Given the description of an element on the screen output the (x, y) to click on. 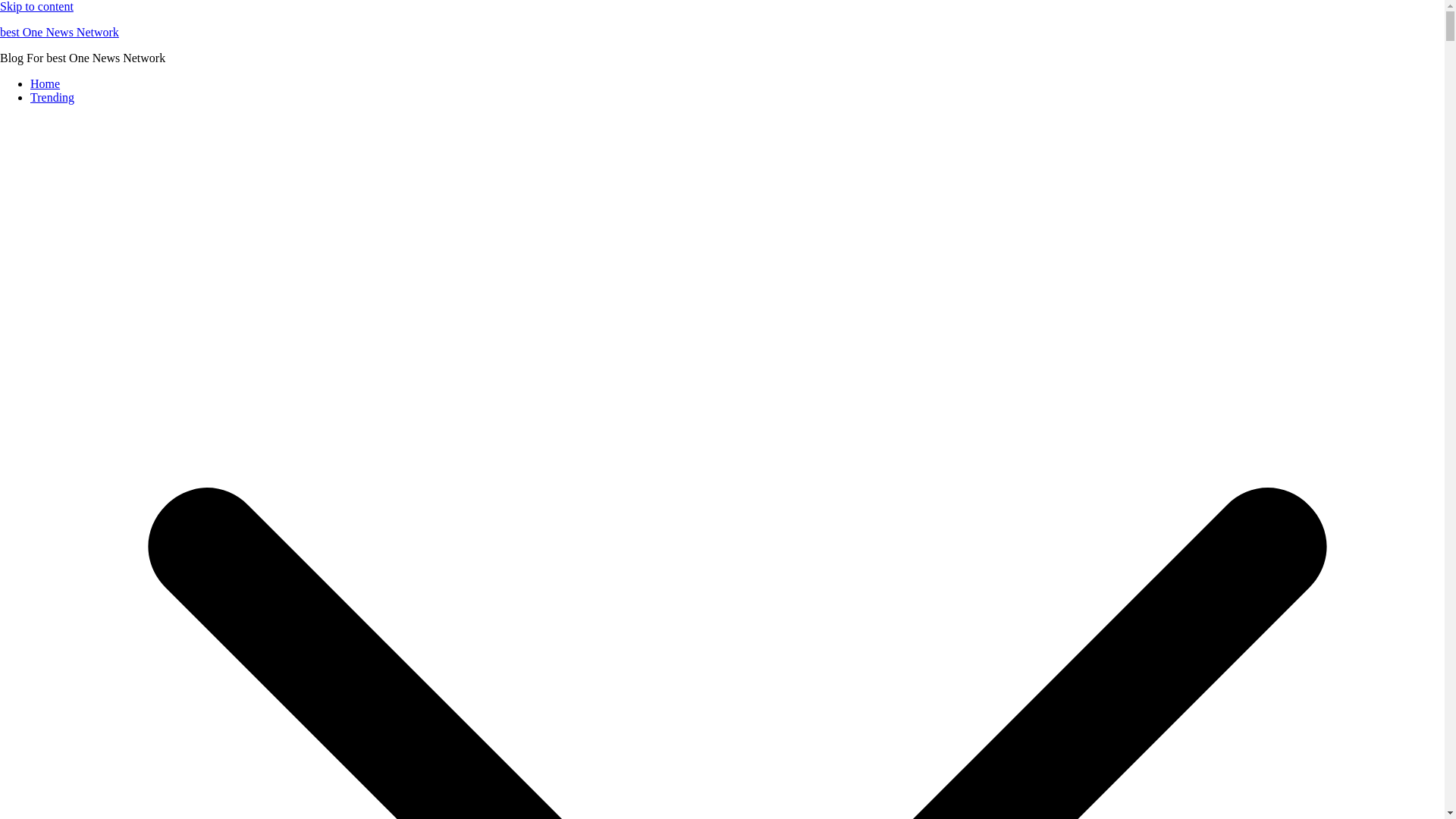
Home (44, 83)
Skip to content (37, 6)
best One News Network (59, 31)
